Given the description of an element on the screen output the (x, y) to click on. 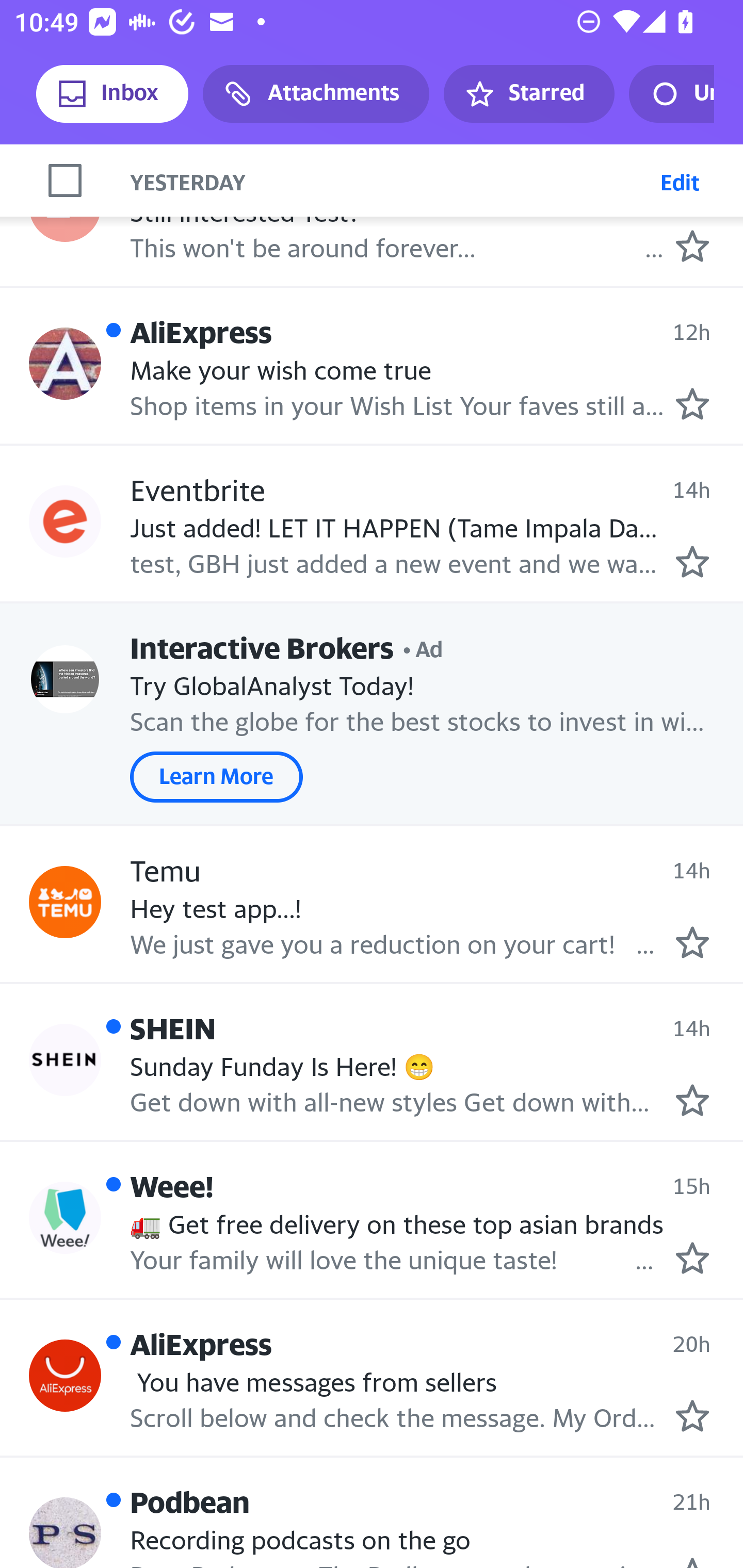
Attachments (315, 93)
Starred (528, 93)
Mark as starred. (692, 245)
Profile
AliExpress (64, 363)
Mark as starred. (692, 403)
Profile
Eventbrite (64, 522)
Mark as starred. (692, 562)
Profile
Temu (64, 901)
Mark as starred. (692, 941)
Profile
SHEIN (64, 1059)
Mark as starred. (692, 1099)
Profile
Weee! (64, 1218)
Mark as starred. (692, 1258)
Profile
AliExpress (64, 1375)
Mark as starred. (692, 1415)
Profile
Podbean (64, 1532)
